Given the description of an element on the screen output the (x, y) to click on. 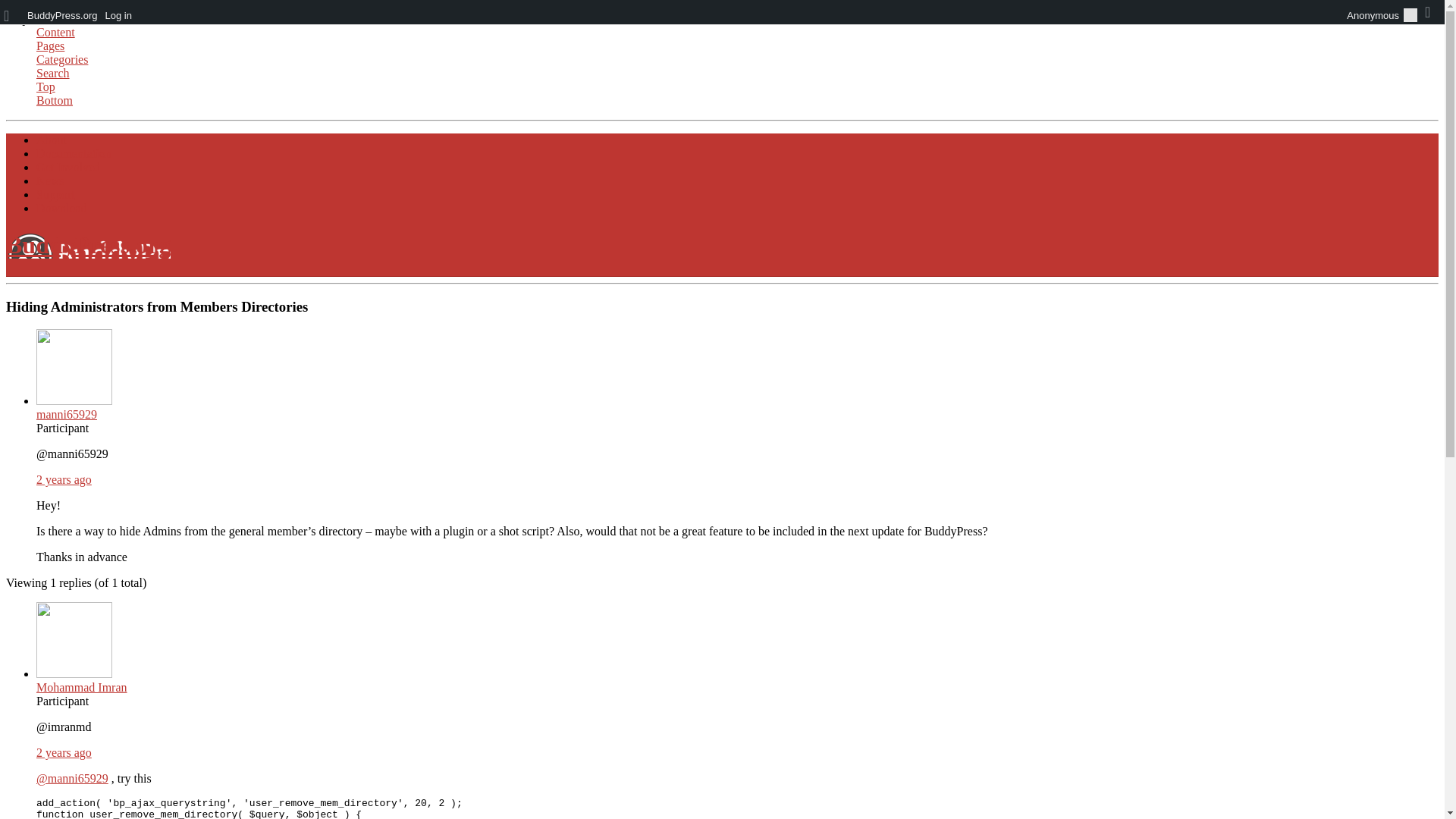
Search (52, 72)
BuddyPress.org (87, 244)
Support (55, 194)
manni65929 (74, 406)
Top (45, 86)
Content (55, 31)
Pages (50, 45)
About (51, 139)
Documentation (74, 153)
Get Involved (68, 166)
Categories (61, 59)
News (50, 180)
2 years ago (63, 479)
Mohammad Imran (82, 680)
Download (61, 207)
